Given the description of an element on the screen output the (x, y) to click on. 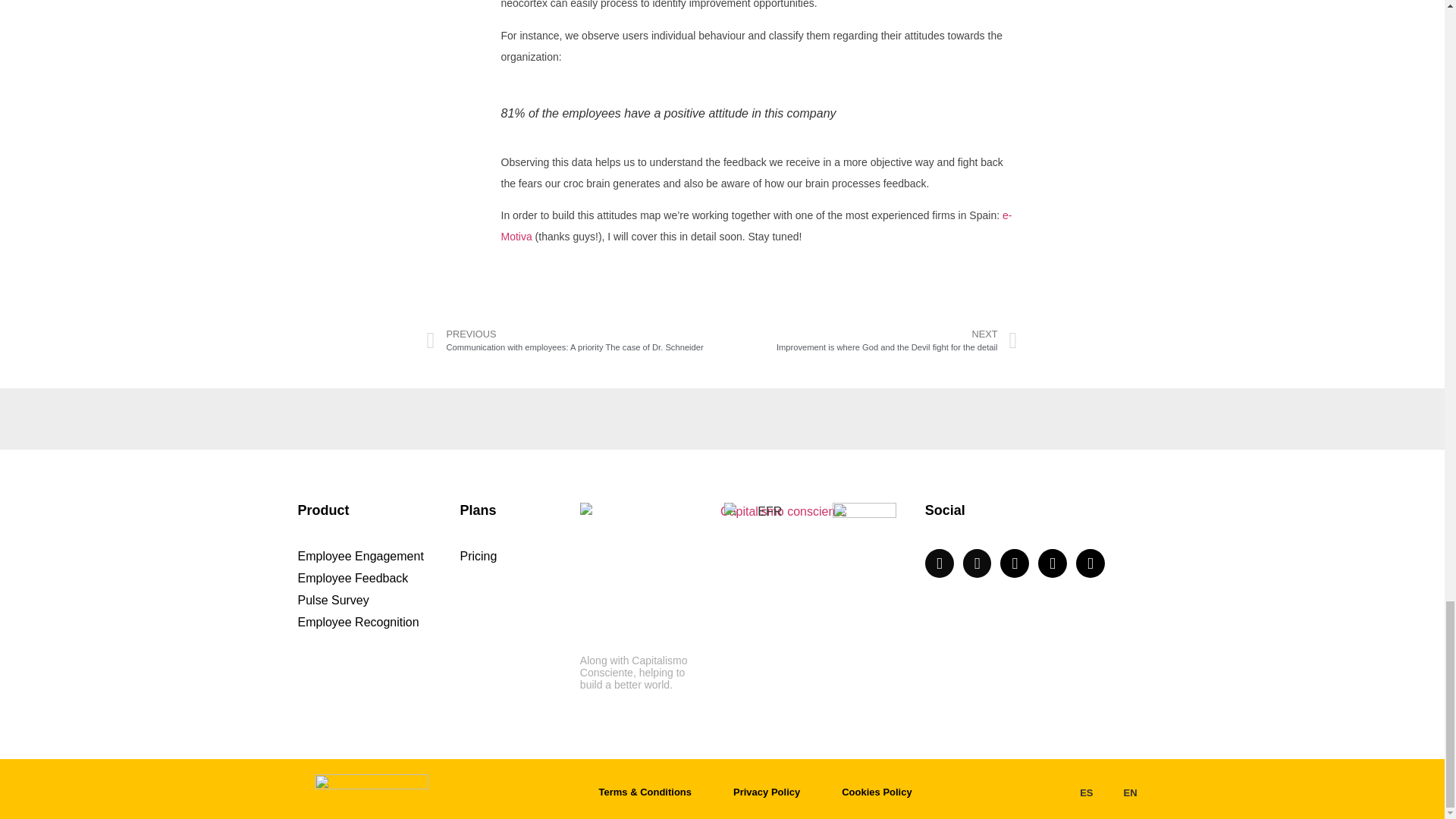
Employee Feedback (370, 577)
e-Motiva (755, 225)
Pulse Survey (370, 599)
Employee Engagement (370, 555)
